Given the description of an element on the screen output the (x, y) to click on. 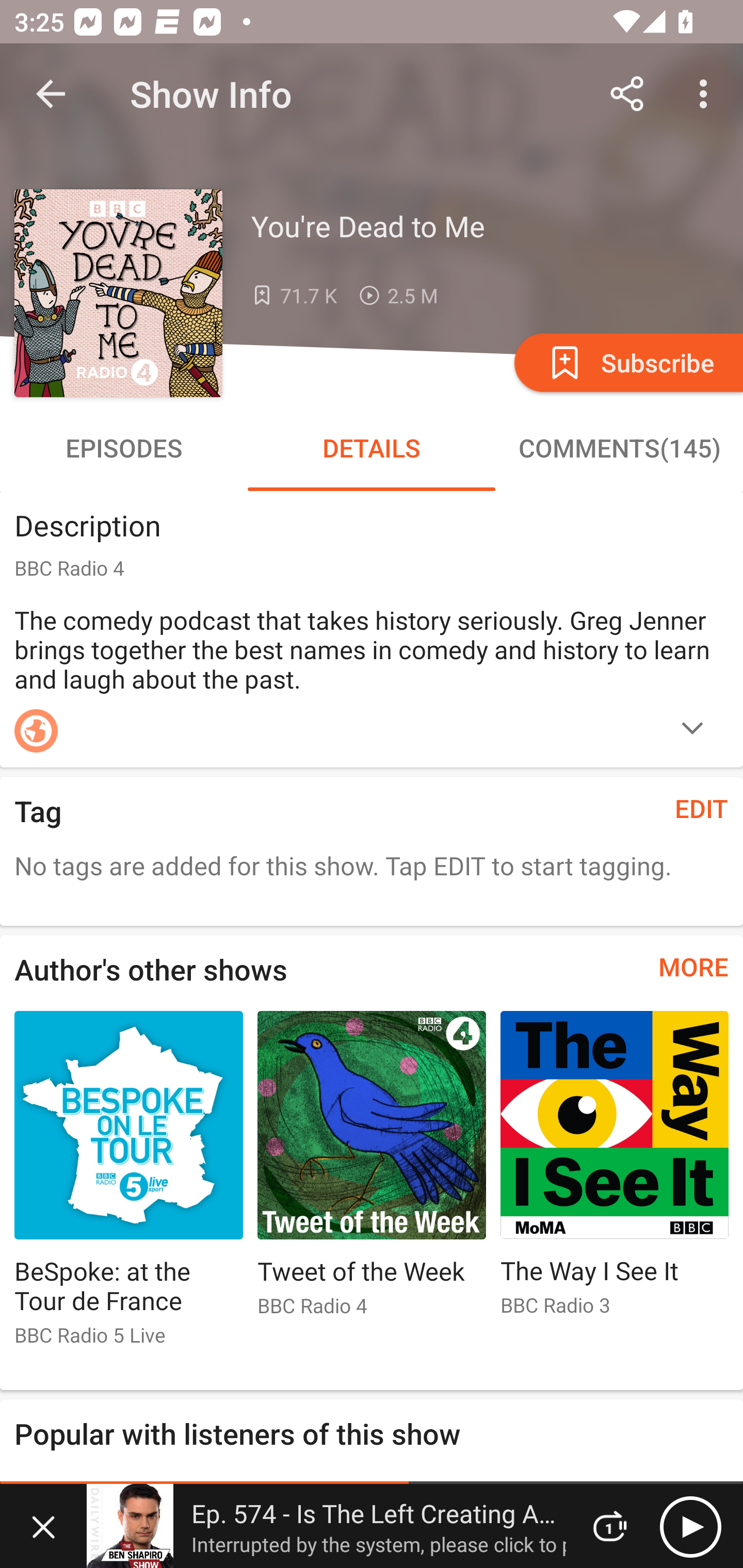
Navigate up (50, 93)
Share (626, 93)
More options (706, 93)
Subscribe (627, 361)
EPISODES (123, 447)
DETAILS (371, 447)
COMMENTS(145) (619, 447)
 (692, 730)
EDIT (701, 807)
MORE (693, 966)
Tweet of the Week Tweet of the Week BBC Radio 4 (371, 1171)
The Way I See It The Way I See It BBC Radio 3 (614, 1171)
Play (690, 1526)
